Given the description of an element on the screen output the (x, y) to click on. 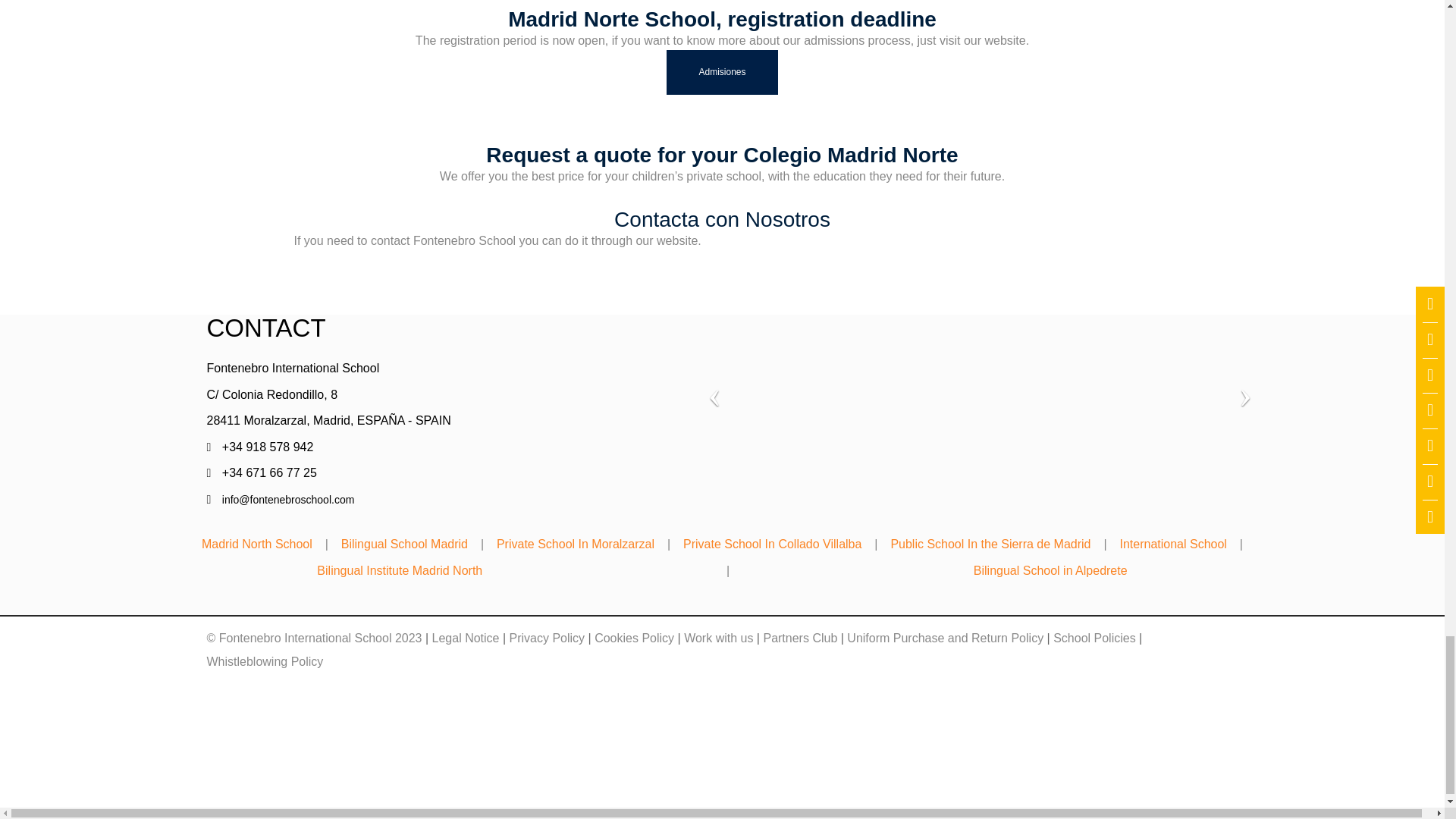
Admissions (721, 72)
